Given the description of an element on the screen output the (x, y) to click on. 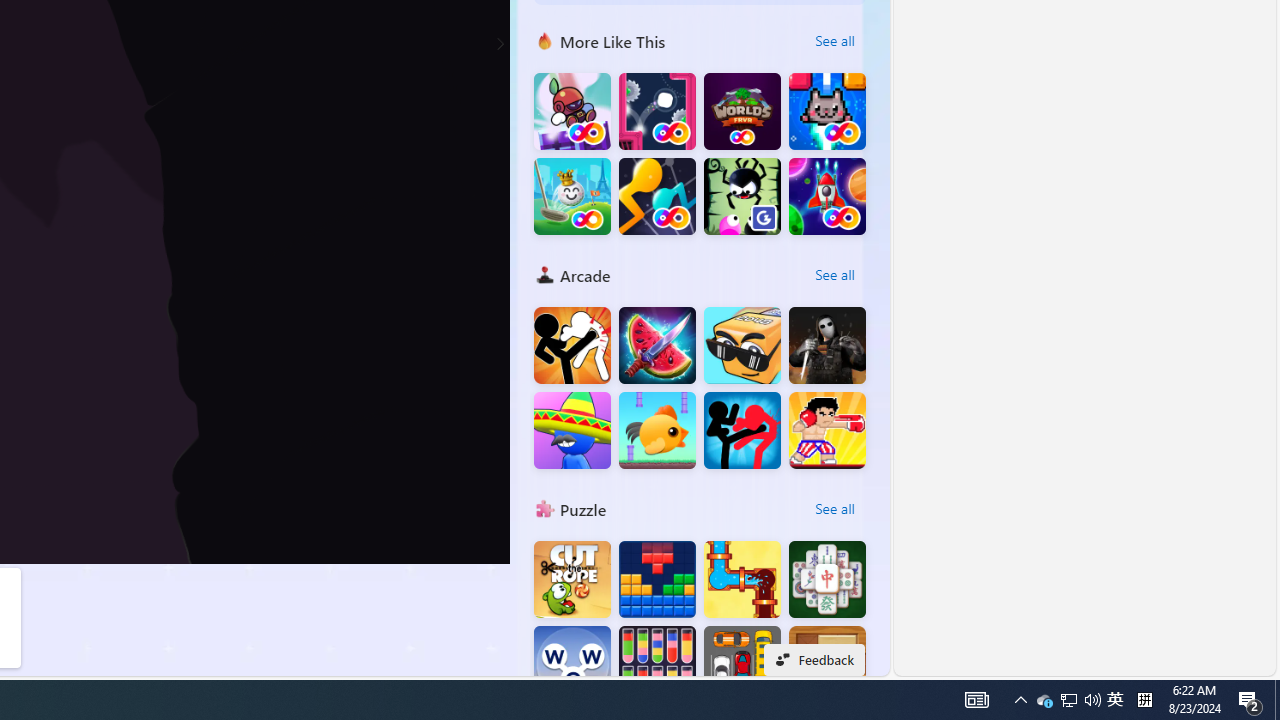
Kitten Force FRVR (827, 111)
Parking Block (742, 664)
Flappy Chicken (657, 430)
Stickman Fighter : Mega Brawl (571, 345)
Sticky Goo (742, 196)
Words of Wonders (571, 664)
See all (834, 508)
Water Sort Quest : Mission (657, 664)
Golf Gardens FRVR (571, 196)
Wally Jump FRVR (657, 111)
More Like This (544, 40)
Space Breaker FRVR (827, 196)
Lines FRVR (657, 196)
Cut the Rope (571, 579)
